Given the description of an element on the screen output the (x, y) to click on. 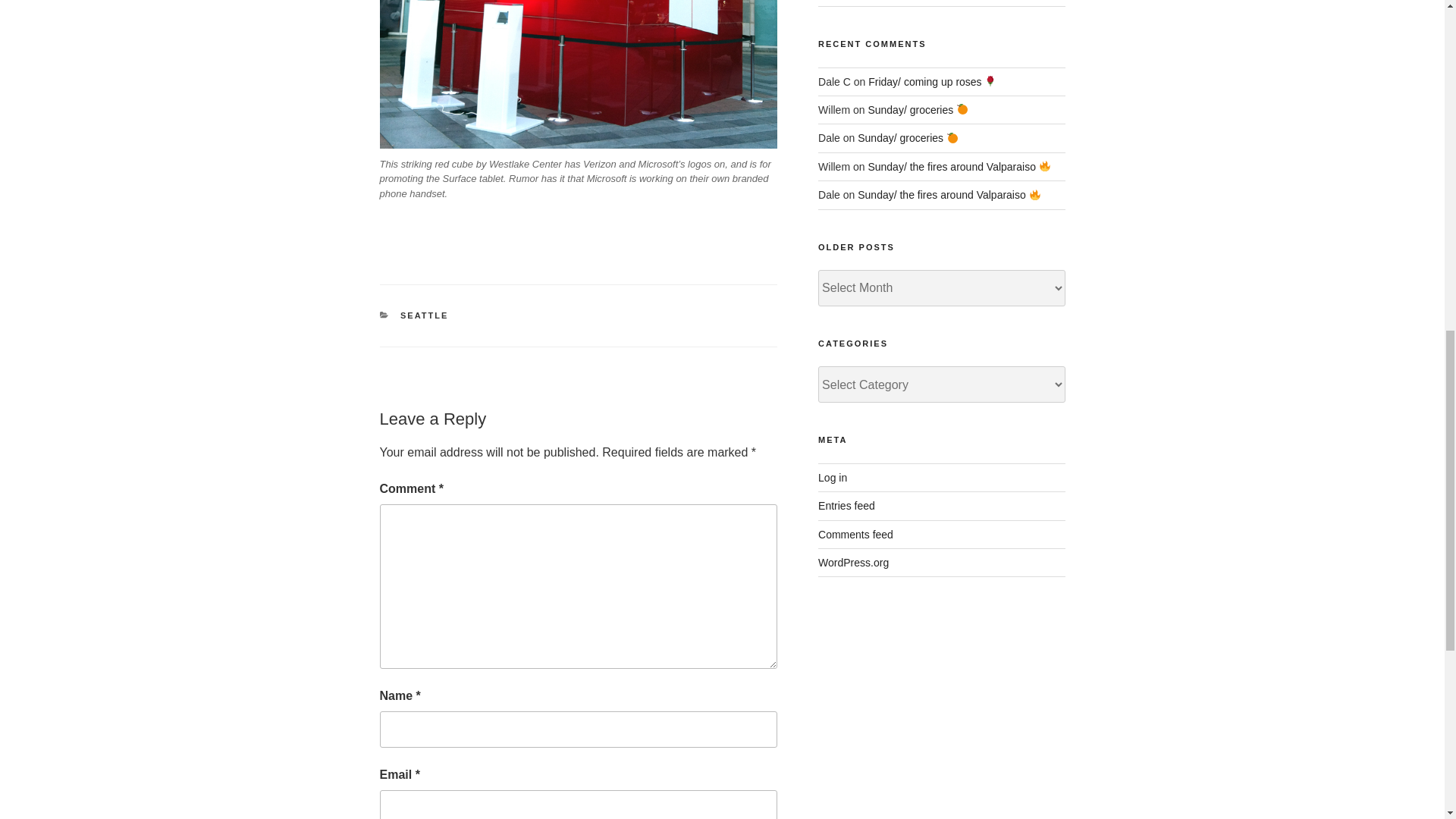
Comments feed (855, 534)
SEATTLE (424, 315)
Entries feed (846, 505)
Log in (832, 477)
WordPress.org (853, 562)
